Given the description of an element on the screen output the (x, y) to click on. 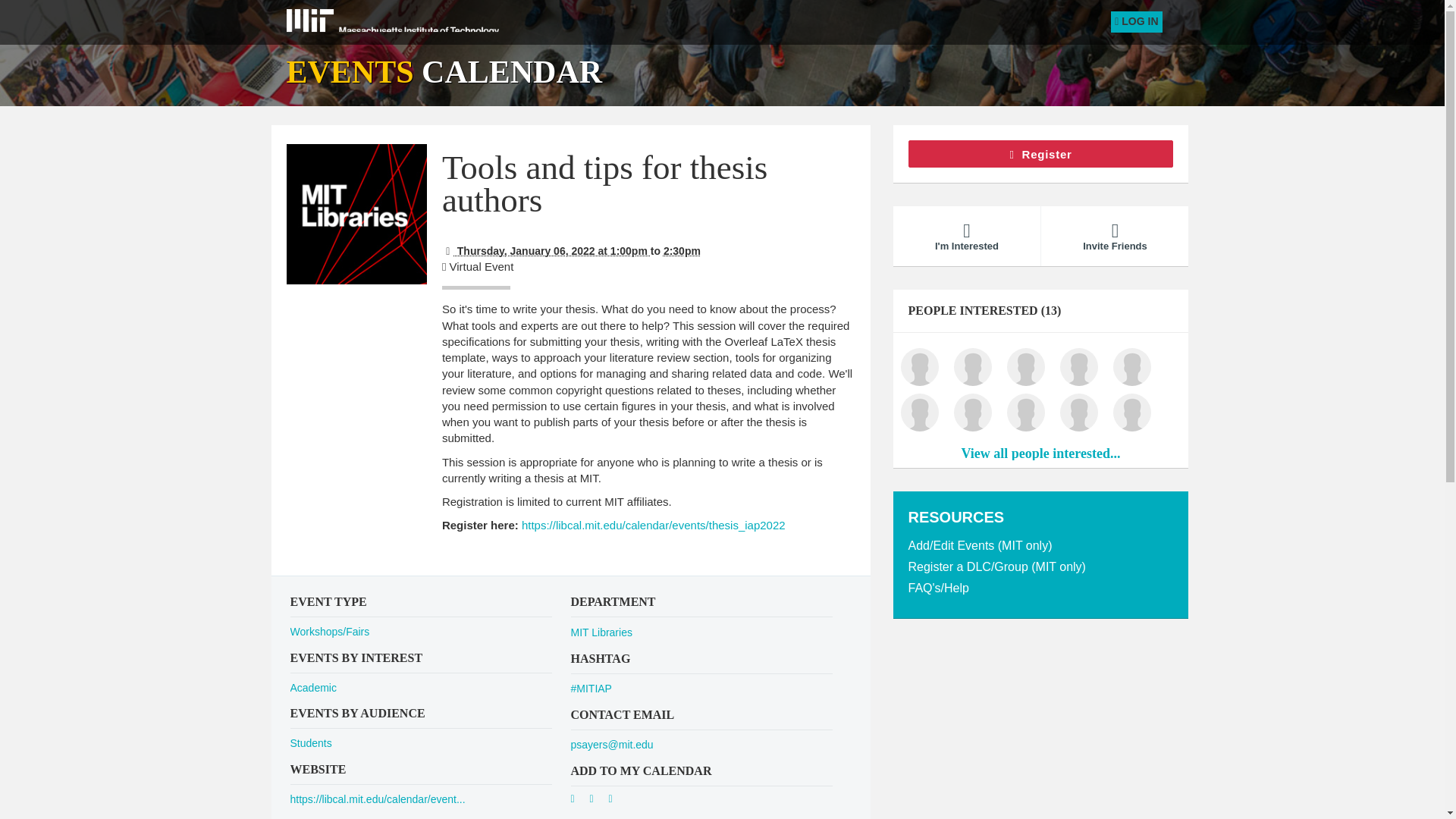
Jariyaporn Prachasartta (1077, 412)
Joana Matos Fonseca da Trindade (1025, 366)
2022-01-06T14:30:00-05:00 (681, 250)
2022-01-06T13:00:00-05:00 (546, 250)
Oyun-Erdene Altan-Ochir (1131, 366)
Shu Ran Li (919, 366)
Invite Friends (1114, 236)
Liuning He (1131, 412)
Akshit Singla (971, 366)
Idelcia Rebeca Domingos Mapure (919, 412)
LOG IN (1135, 21)
View all people interested... (1040, 453)
Save to Google Calendar (577, 801)
Register (1040, 153)
William Kolbe Schwab (1077, 366)
